Given the description of an element on the screen output the (x, y) to click on. 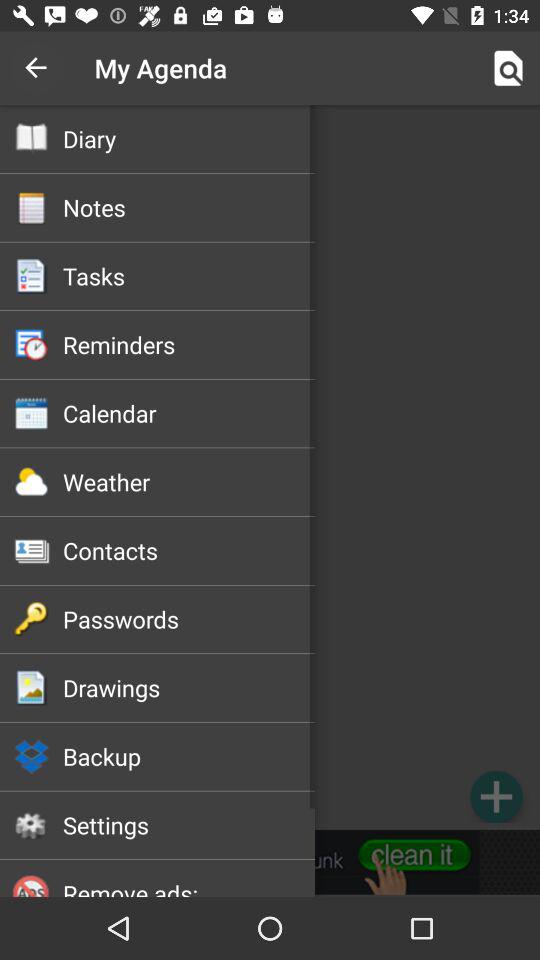
scroll to the reminders item (188, 344)
